Given the description of an element on the screen output the (x, y) to click on. 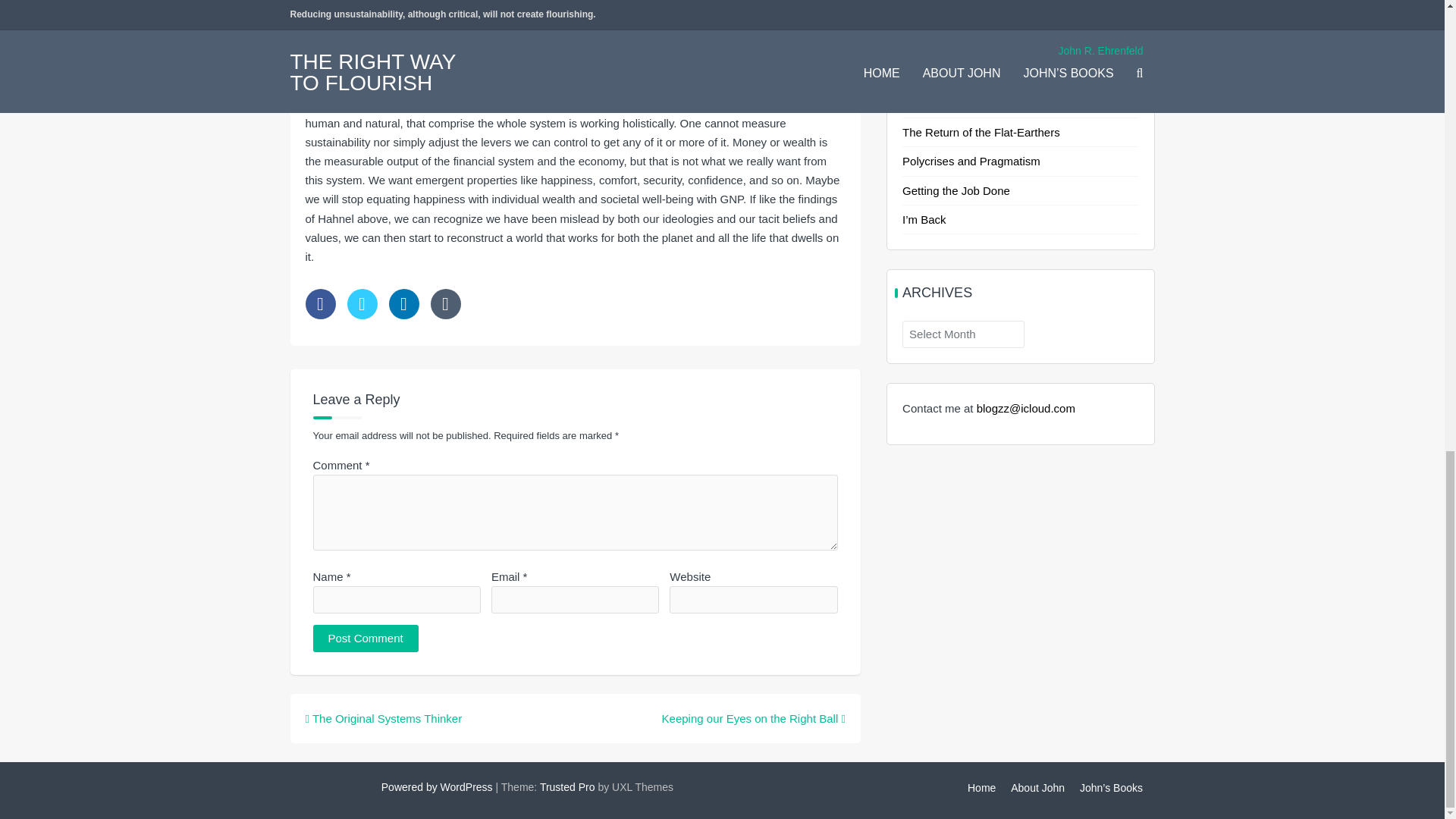
Free Speech Is More than a Libertarian Slogan (1001, 11)
Facebook (319, 304)
Keeping our Eyes on the Right Ball (753, 717)
Post Comment (365, 637)
The Original Systems Thinker (382, 717)
Email (445, 304)
normal accidents (555, 7)
Linkedin (403, 304)
The Error of Explication (962, 45)
Cleaning Up Messes (954, 74)
